Given the description of an element on the screen output the (x, y) to click on. 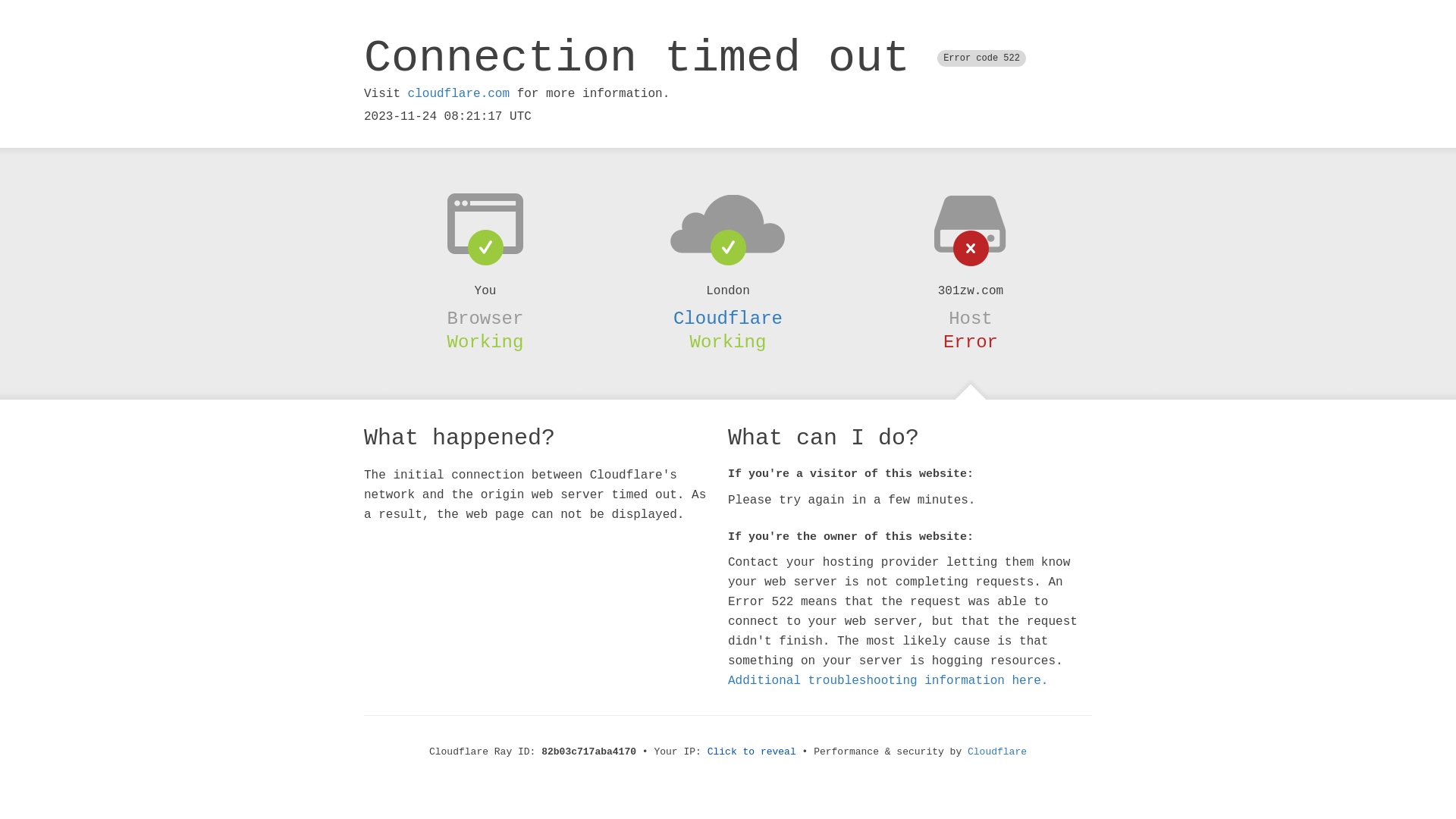
Click to reveal Element type: text (751, 751)
Additional troubleshooting information here. Element type: text (888, 680)
Cloudflare Element type: text (727, 318)
cloudflare.com Element type: text (458, 93)
Cloudflare Element type: text (996, 751)
